Given the description of an element on the screen output the (x, y) to click on. 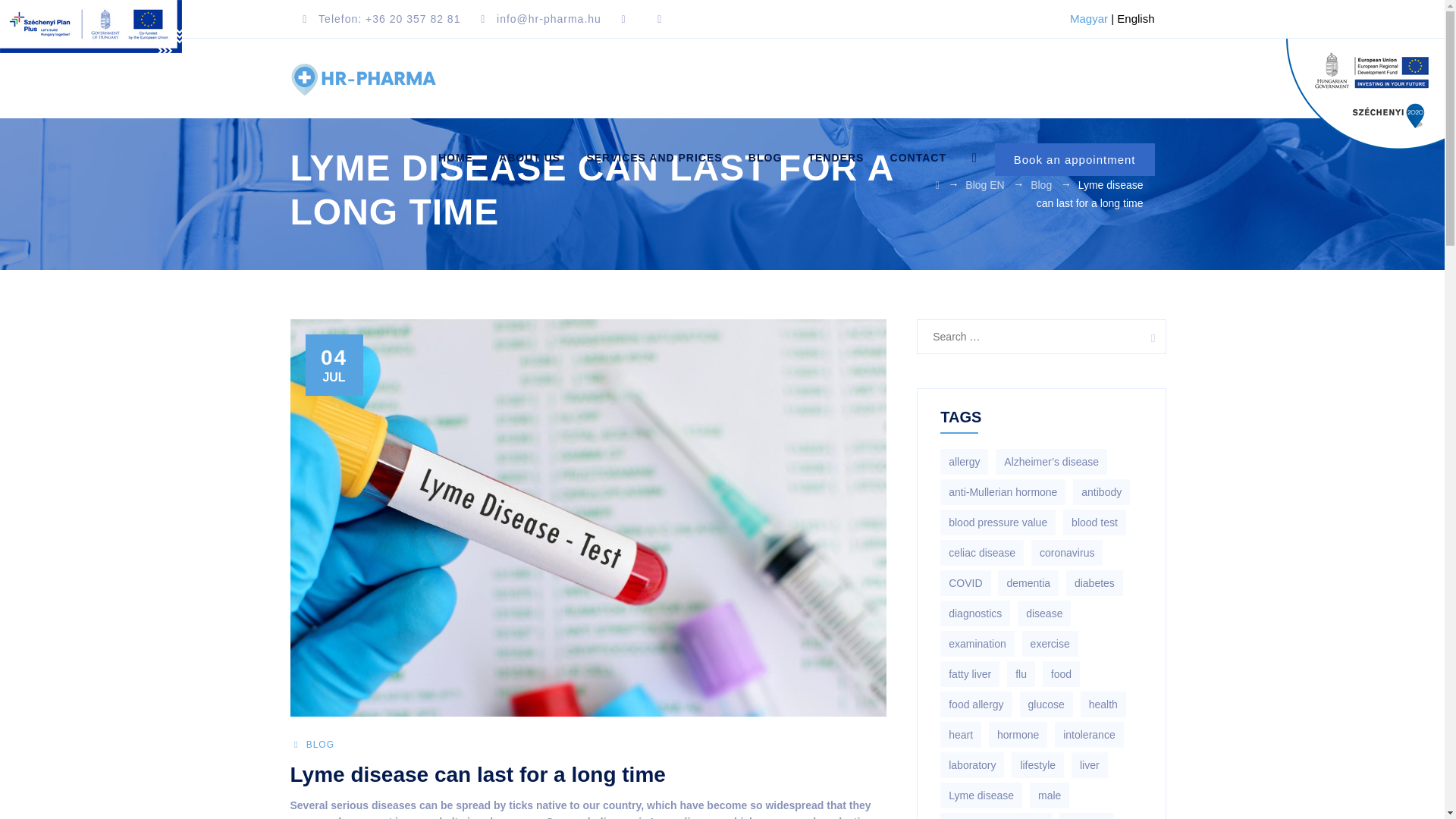
Blog EN (984, 184)
Book an appointment (1074, 159)
Search (1148, 336)
Search (1148, 336)
HR-Pharma (362, 77)
SERVICES AND PRICES (654, 157)
Blog (1040, 184)
English (1135, 18)
Blog EN (984, 184)
Magyar (1089, 18)
